Given the description of an element on the screen output the (x, y) to click on. 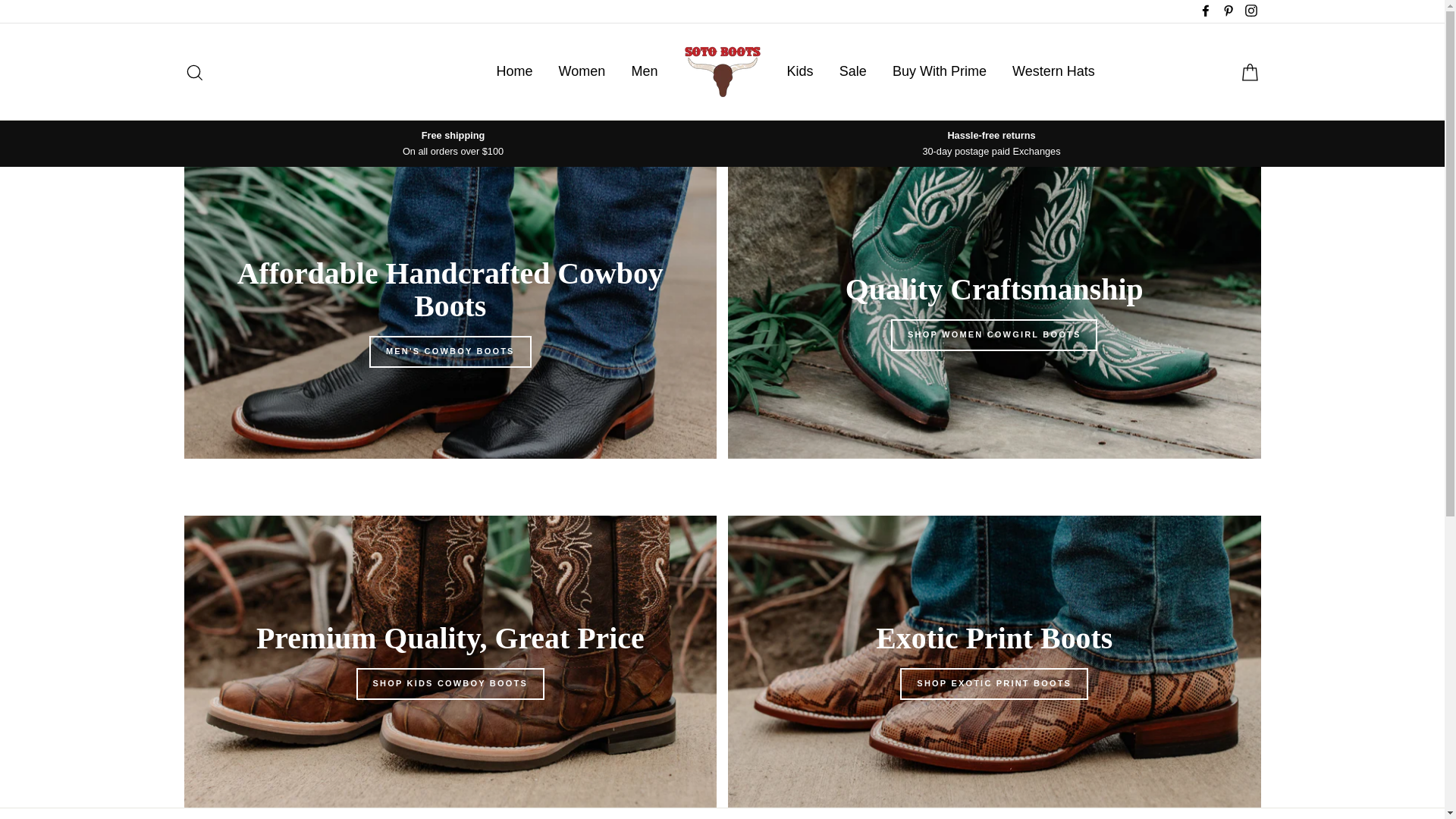
Women (582, 71)
Home (513, 71)
